Given the description of an element on the screen output the (x, y) to click on. 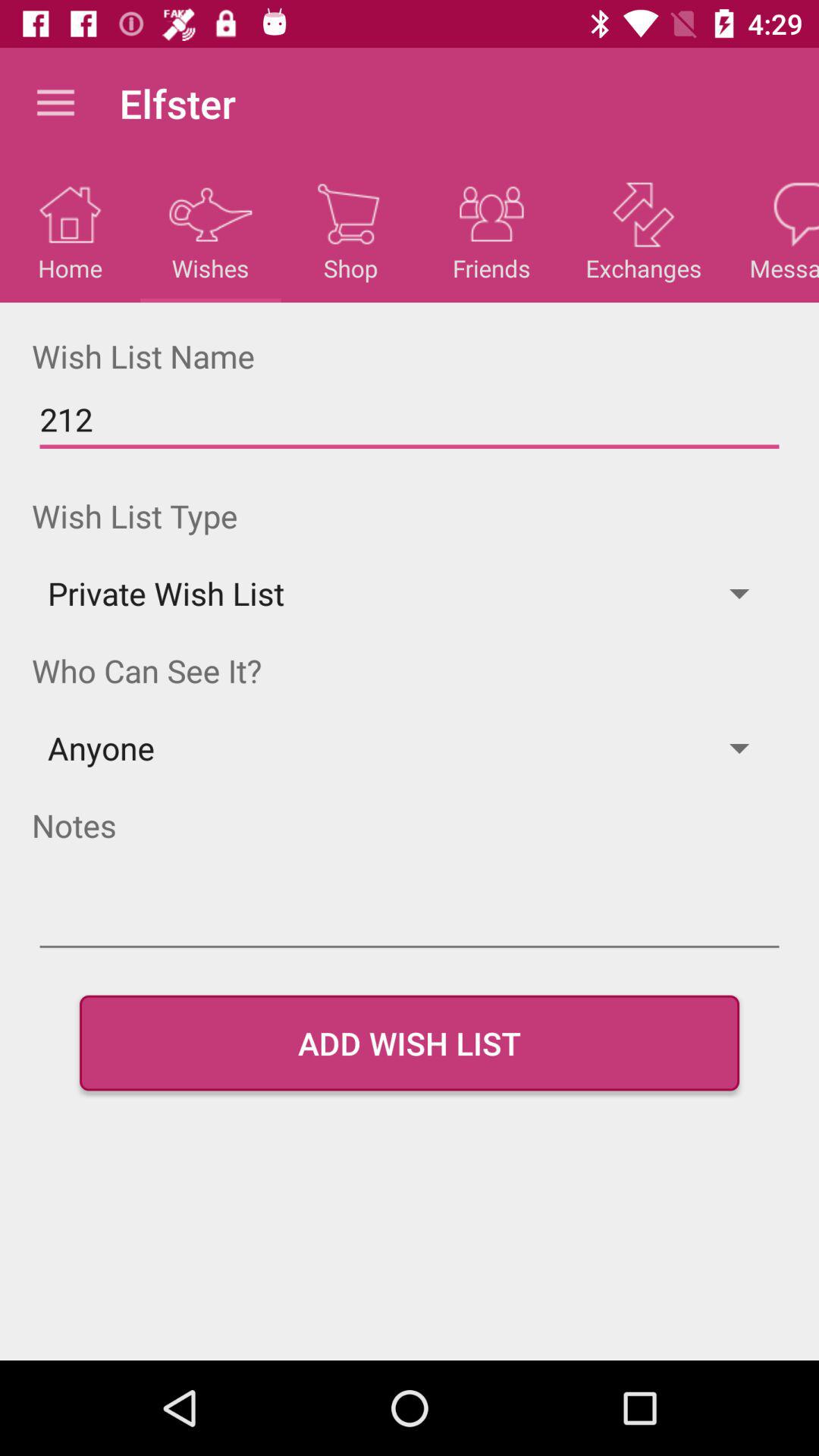
jump to the 212 icon (409, 419)
